Given the description of an element on the screen output the (x, y) to click on. 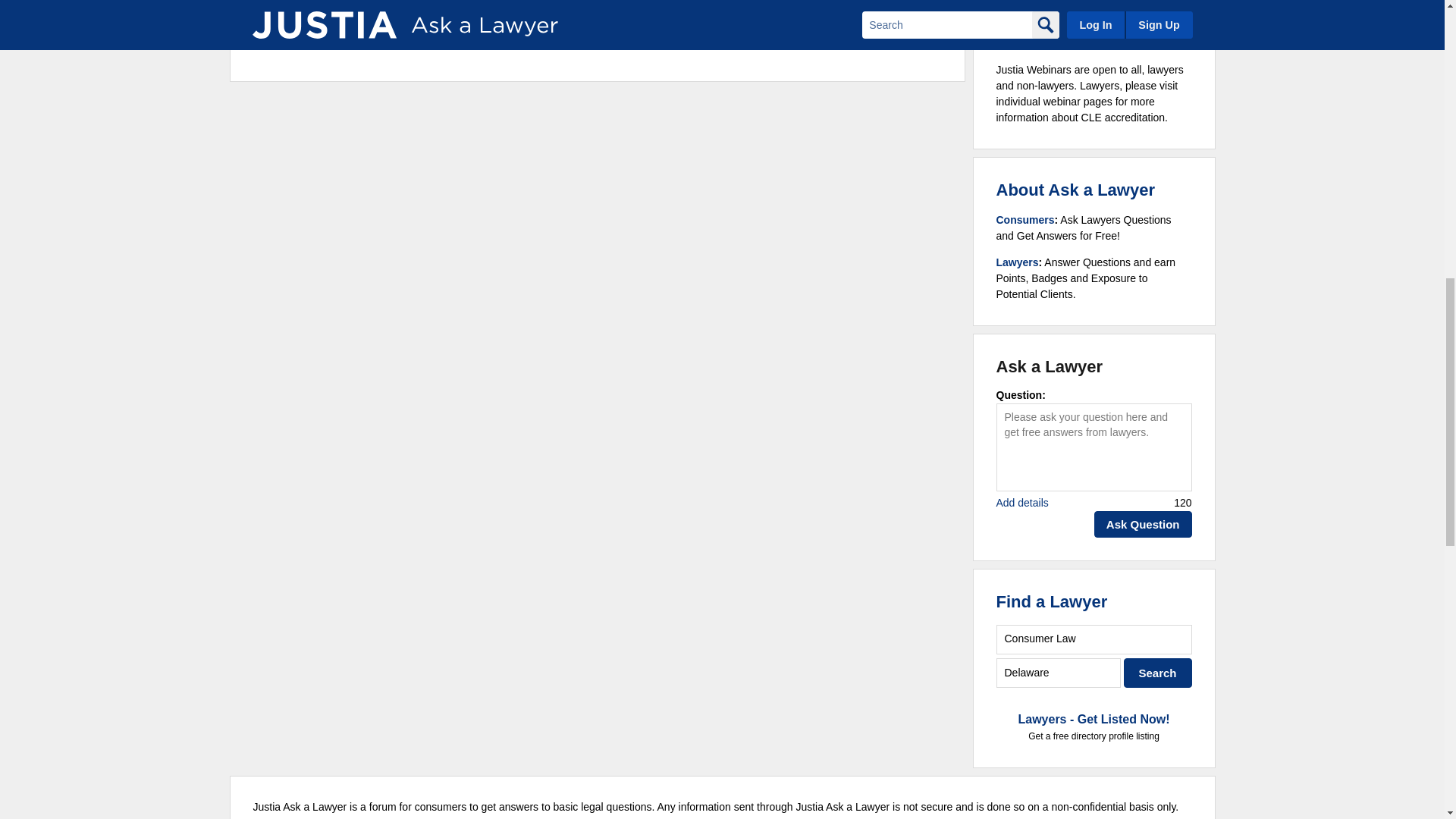
Search (1158, 672)
City, State (1058, 672)
Delaware (1058, 672)
Search (1158, 672)
Ask a Lawyer - FAQs - Lawyers (1017, 262)
Consumer Law (1093, 639)
Ask a Lawyer - FAQs - Consumers (1024, 219)
Legal Issue or Lawyer Name (1093, 639)
